Given the description of an element on the screen output the (x, y) to click on. 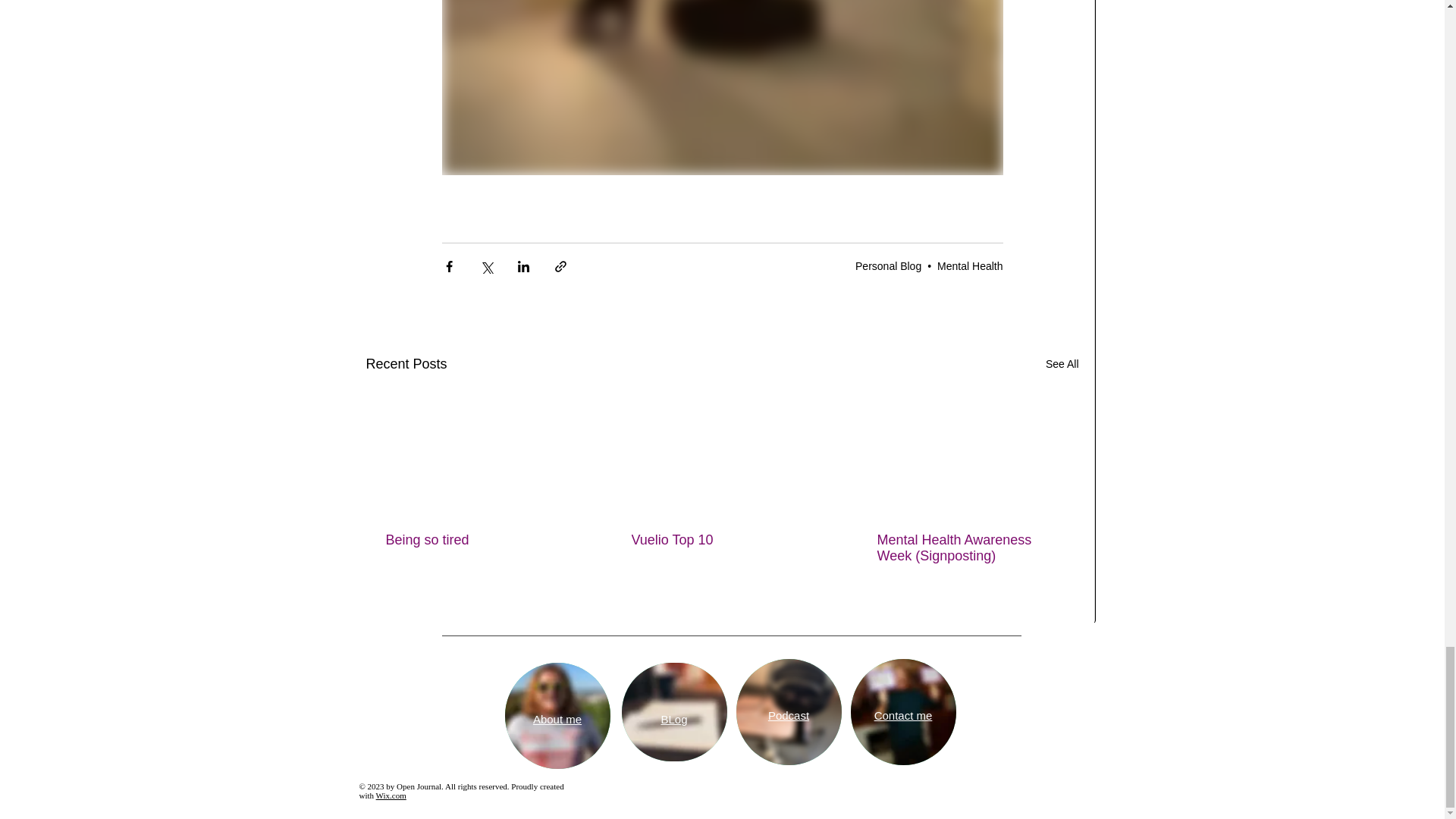
About me (556, 718)
Wix.com (390, 795)
Contact me (904, 715)
Being so tired (475, 539)
Vuelio Top 10 (720, 539)
BLog (674, 718)
Podcast (788, 715)
See All (1061, 363)
Personal Blog (888, 265)
Mental Health (970, 265)
